Given the description of an element on the screen output the (x, y) to click on. 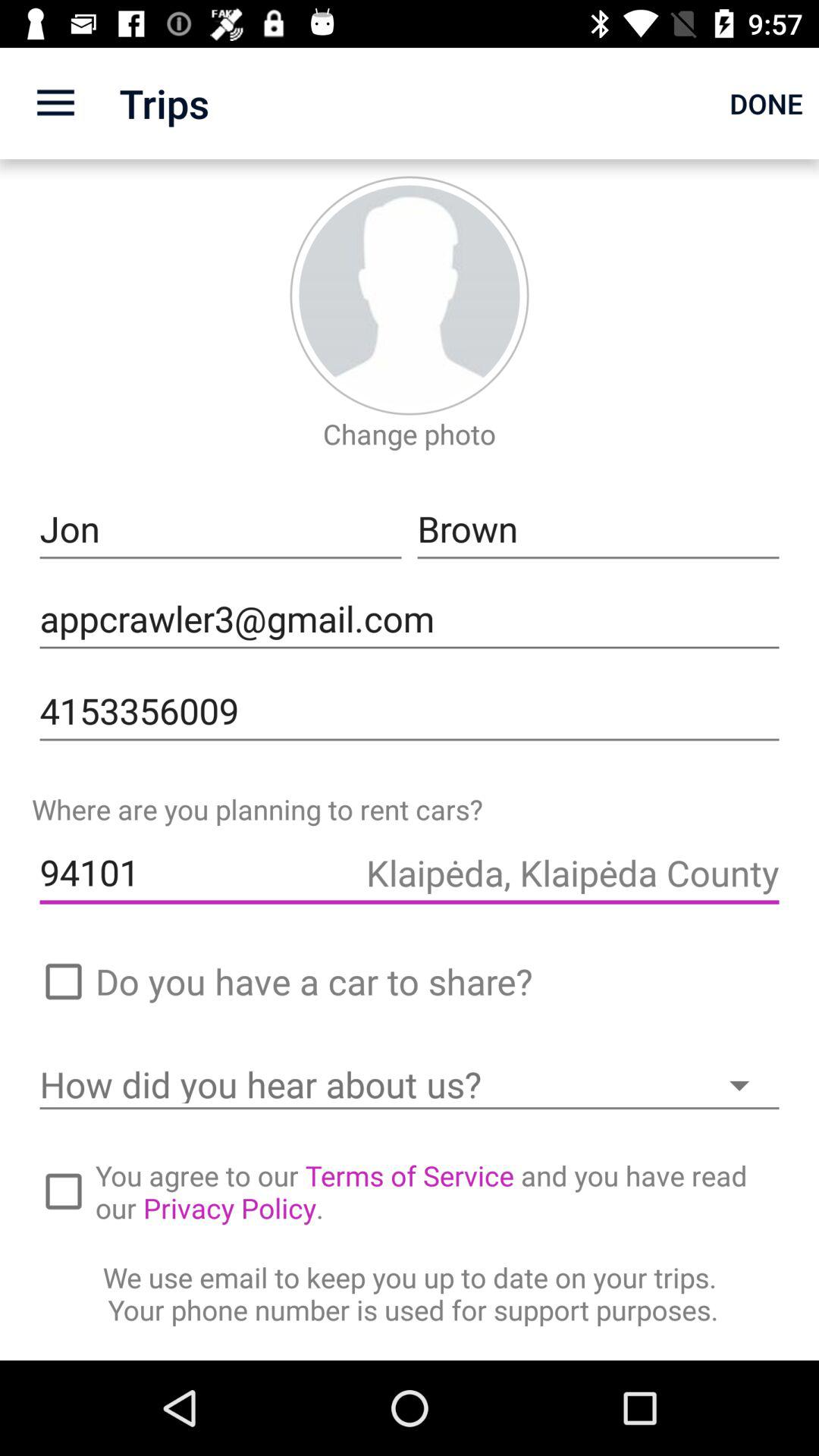
press the change photo (409, 433)
